Given the description of an element on the screen output the (x, y) to click on. 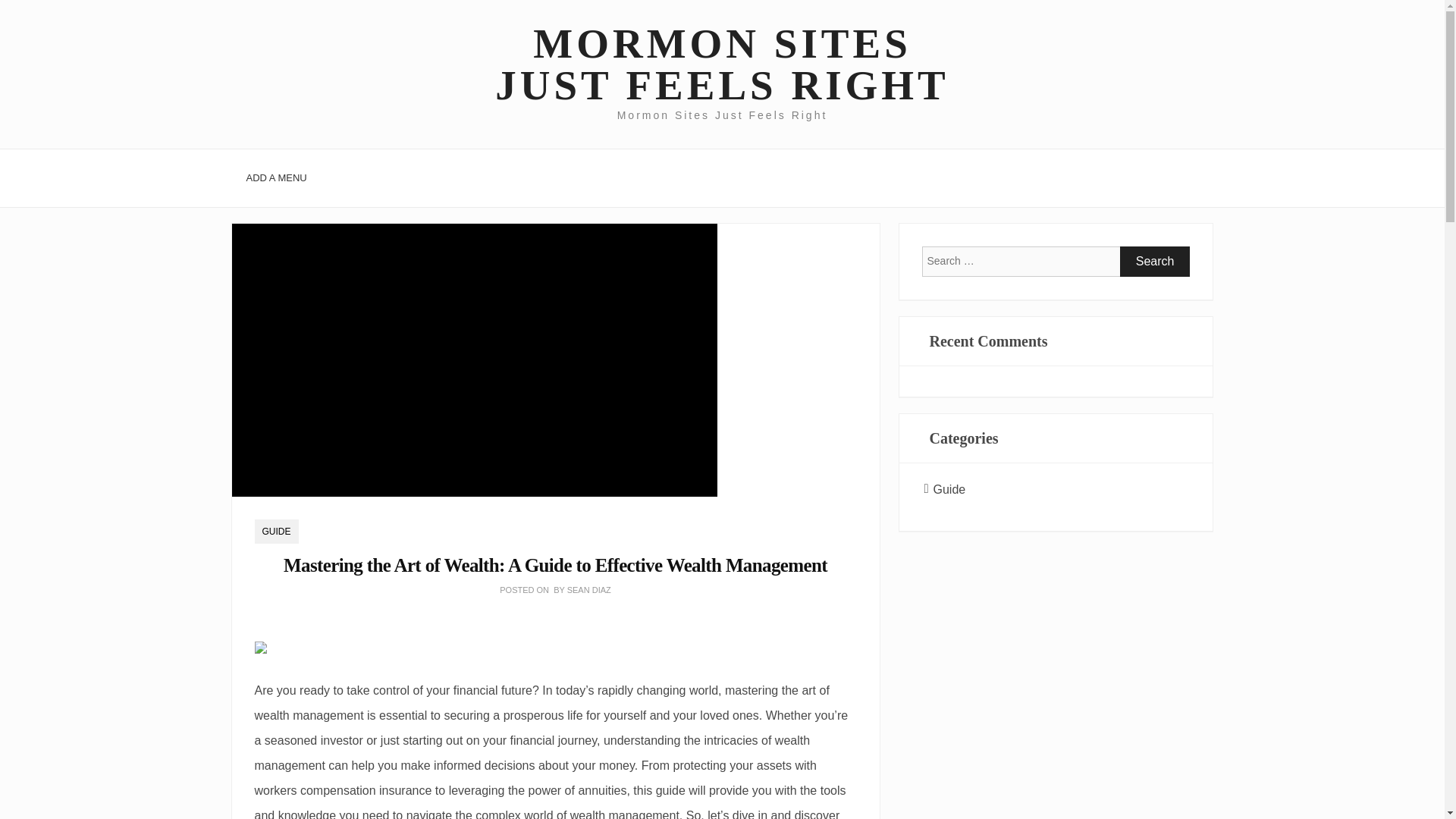
Search (1155, 261)
Search (1155, 261)
GUIDE (276, 531)
MORMON SITES JUST FEELS RIGHT (721, 64)
ADD A MENU (275, 177)
Guide (949, 489)
SEAN DIAZ (589, 590)
Search (1155, 261)
